Given the description of an element on the screen output the (x, y) to click on. 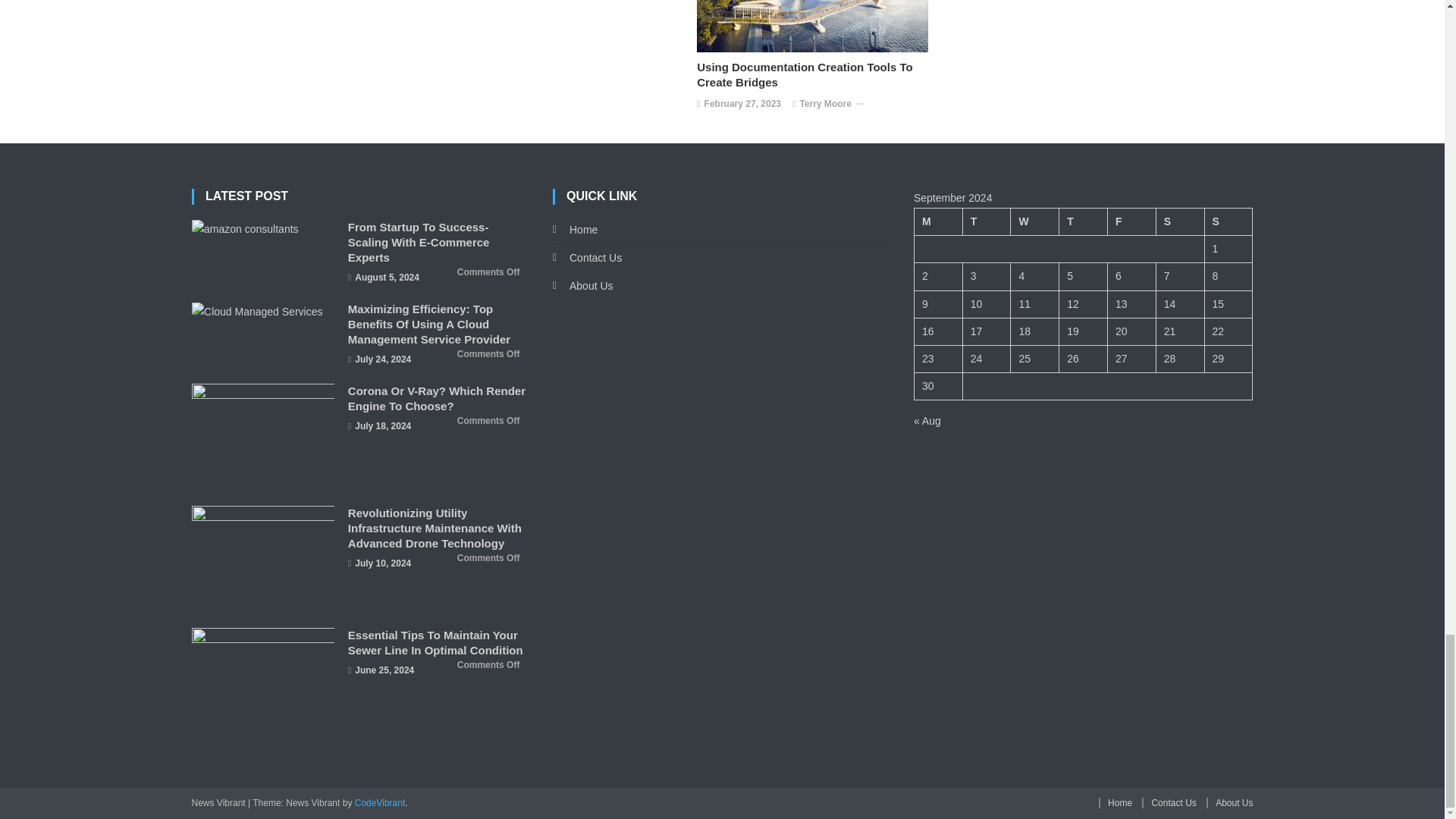
Using Documentation Creation Tools To Create Bridges (815, 74)
Terry Moore (824, 104)
February 27, 2023 (742, 104)
Tuesday (986, 221)
Saturday (1180, 221)
Monday (938, 221)
Sunday (1228, 221)
Thursday (1083, 221)
Friday (1131, 221)
Wednesday (1034, 221)
